Given the description of an element on the screen output the (x, y) to click on. 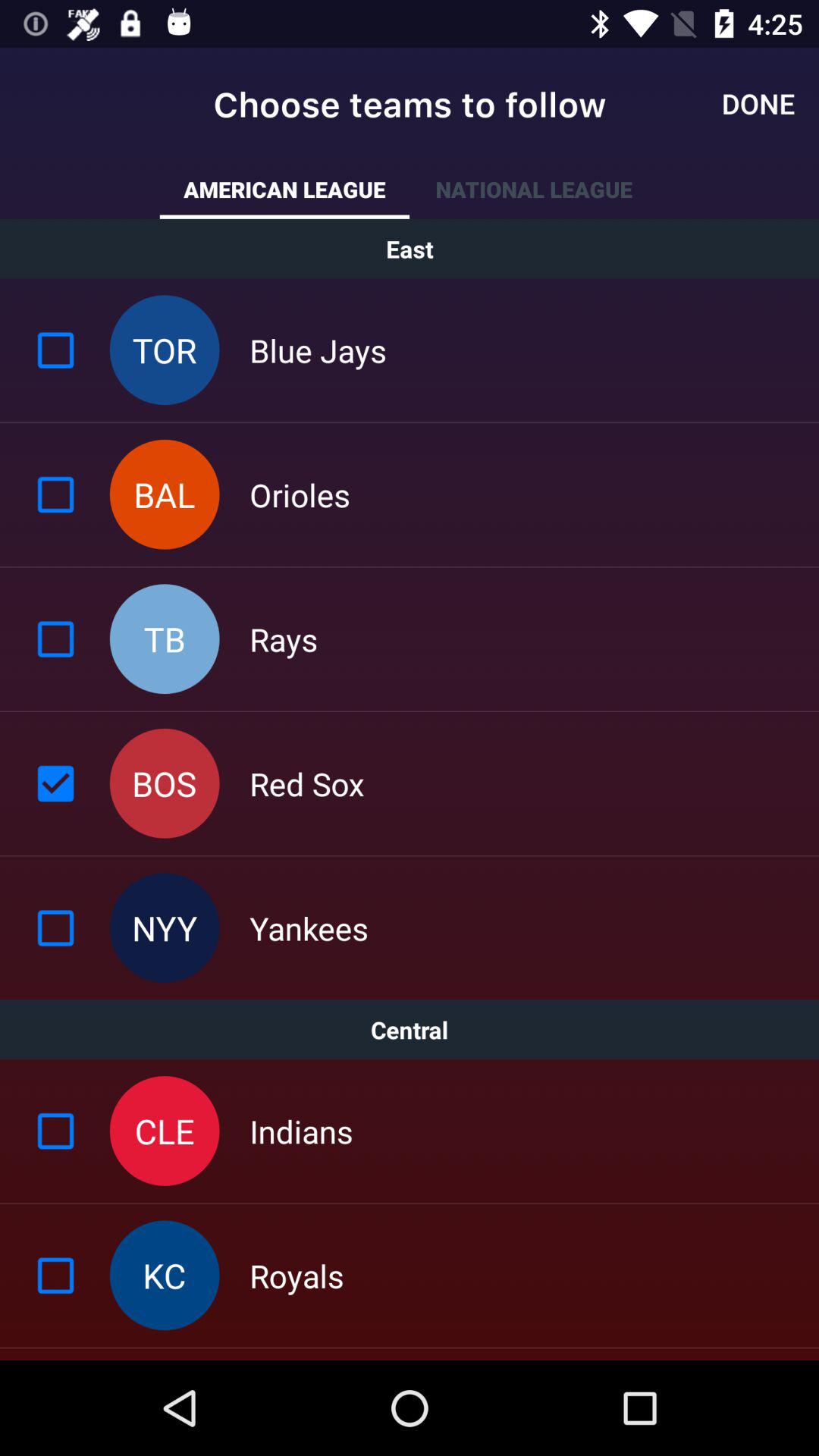
flip until the done (758, 103)
